Given the description of an element on the screen output the (x, y) to click on. 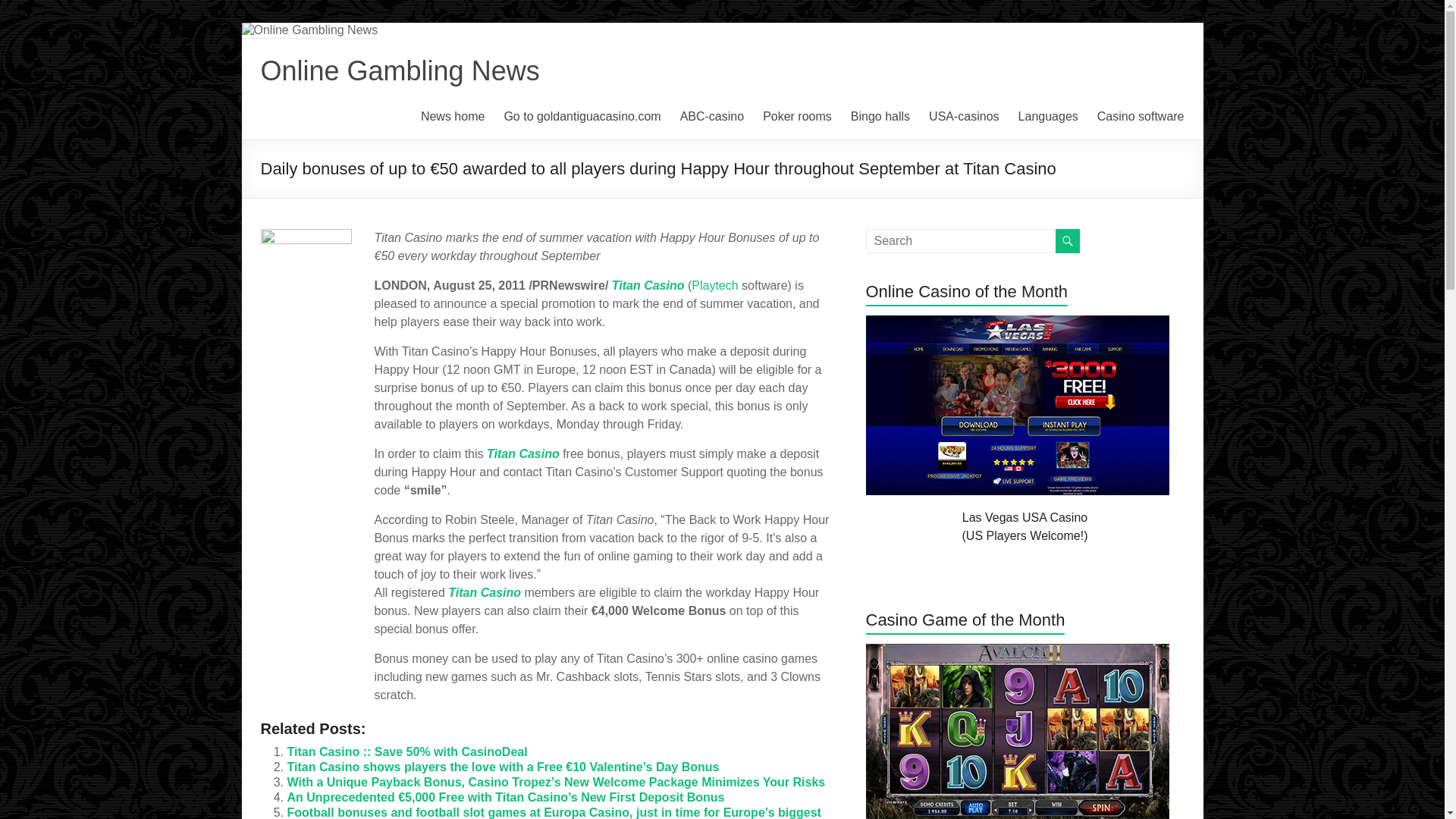
ABC-casino (711, 116)
Casino software (1141, 116)
Poker rooms (796, 116)
Online Gambling News (400, 70)
Casino software (1141, 116)
Bingo halls (880, 116)
Titan Casino (484, 592)
Titan Casino (647, 285)
Titan Casino (522, 453)
USA-casinos (963, 116)
News home (452, 116)
Poker rooms (796, 116)
Playtech (714, 285)
Bingo halls (880, 116)
Languages (1047, 116)
